Given the description of an element on the screen output the (x, y) to click on. 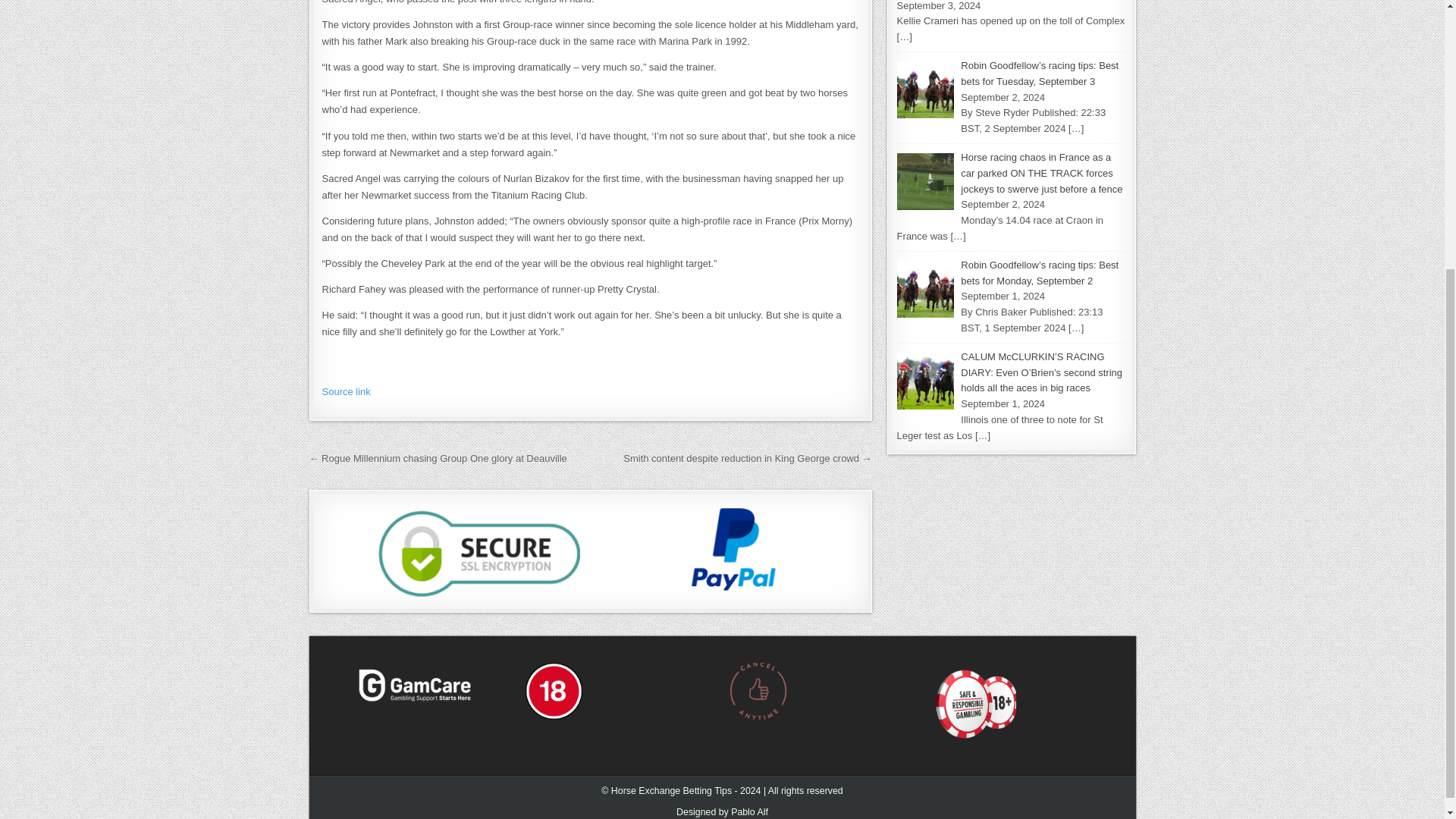
Source link (345, 391)
Designed by Pablo Alf (722, 811)
